Given the description of an element on the screen output the (x, y) to click on. 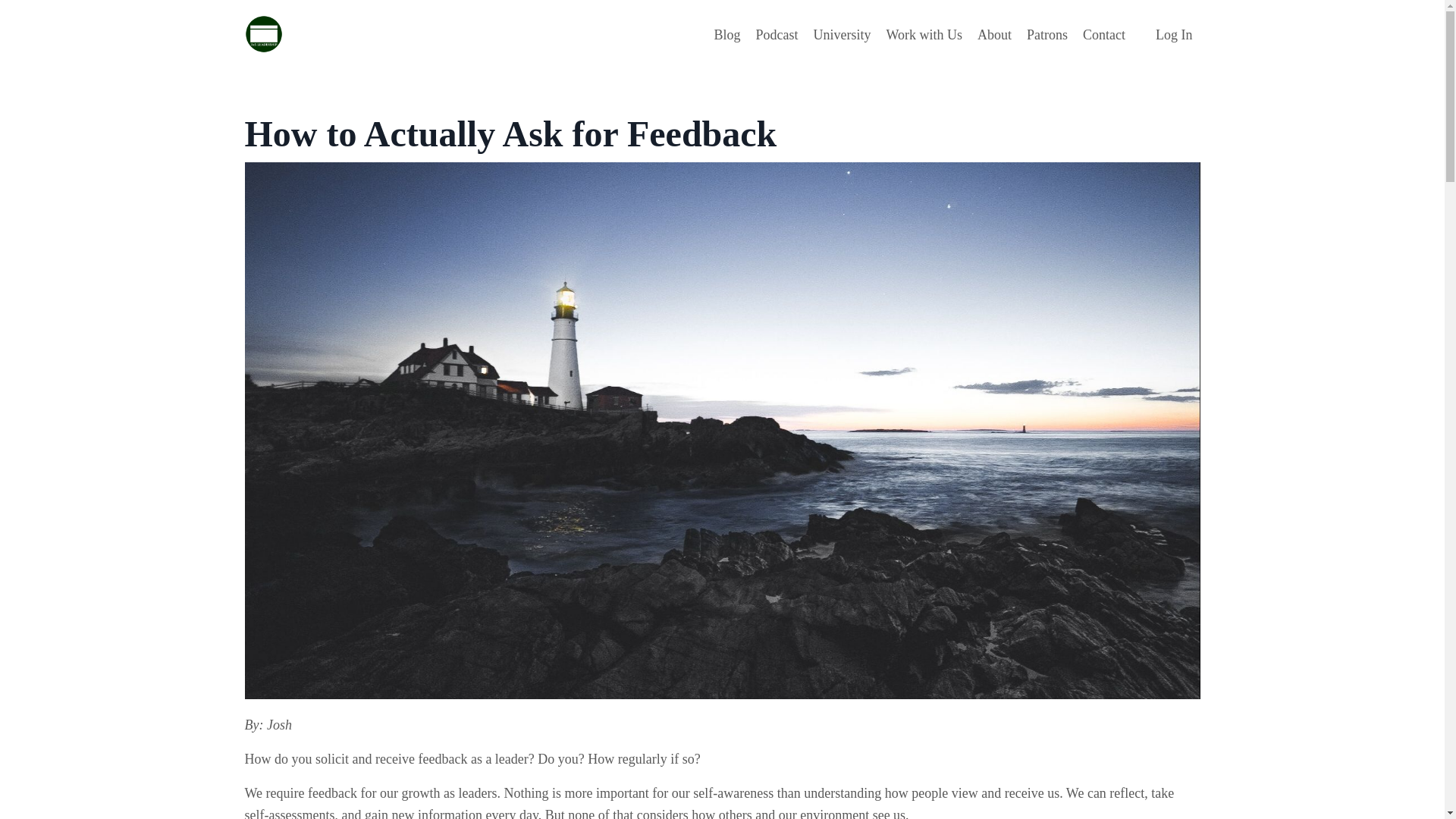
Patrons (1046, 34)
Podcast (776, 34)
Contact (1104, 34)
Work with Us (923, 34)
Blog (726, 34)
University (841, 34)
About (993, 34)
Log In (1174, 34)
